Given the description of an element on the screen output the (x, y) to click on. 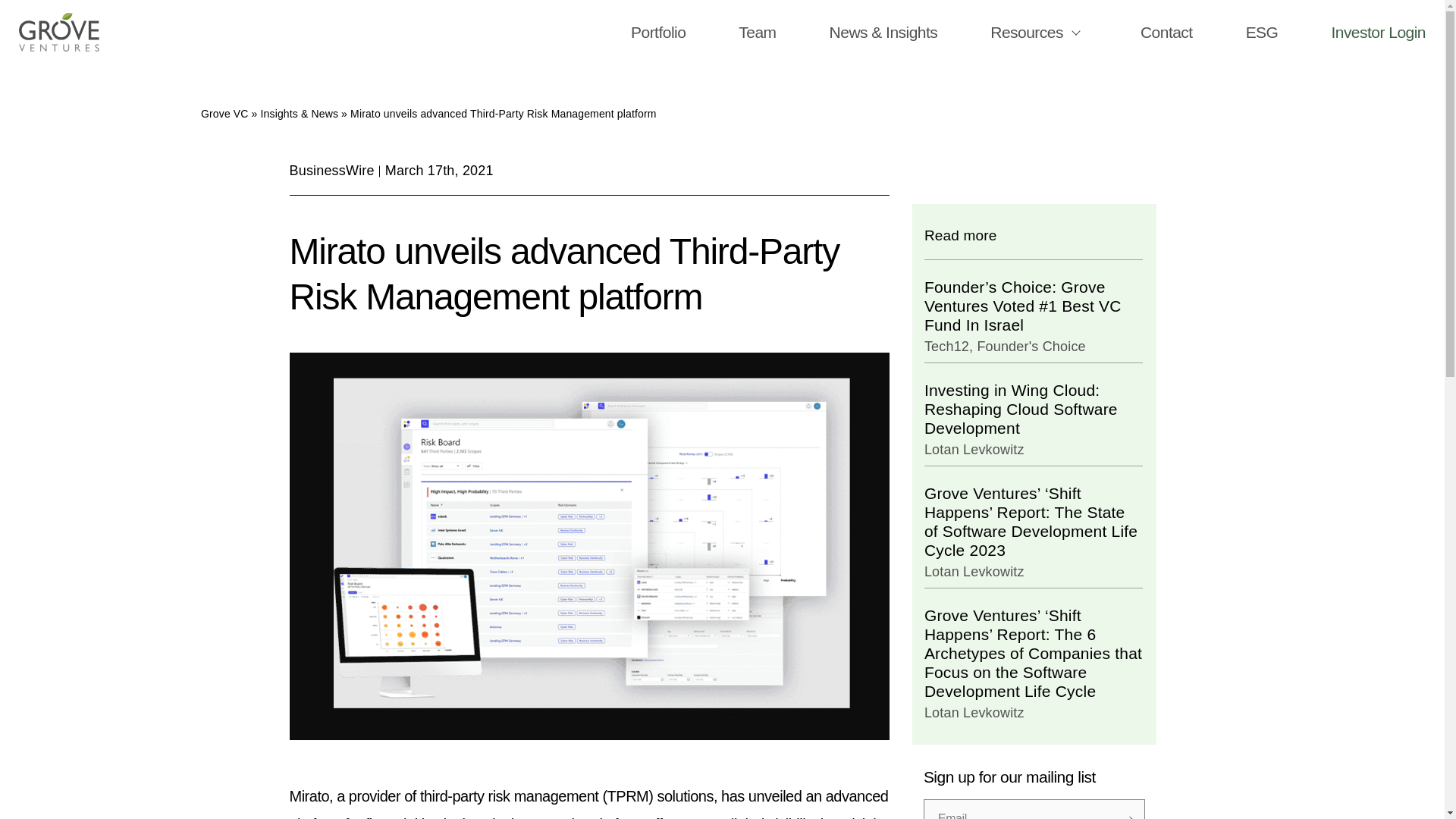
Grove VC (224, 113)
Submit (1127, 817)
Investor Login (1377, 32)
Submit (1127, 817)
Resources (1026, 32)
